Given the description of an element on the screen output the (x, y) to click on. 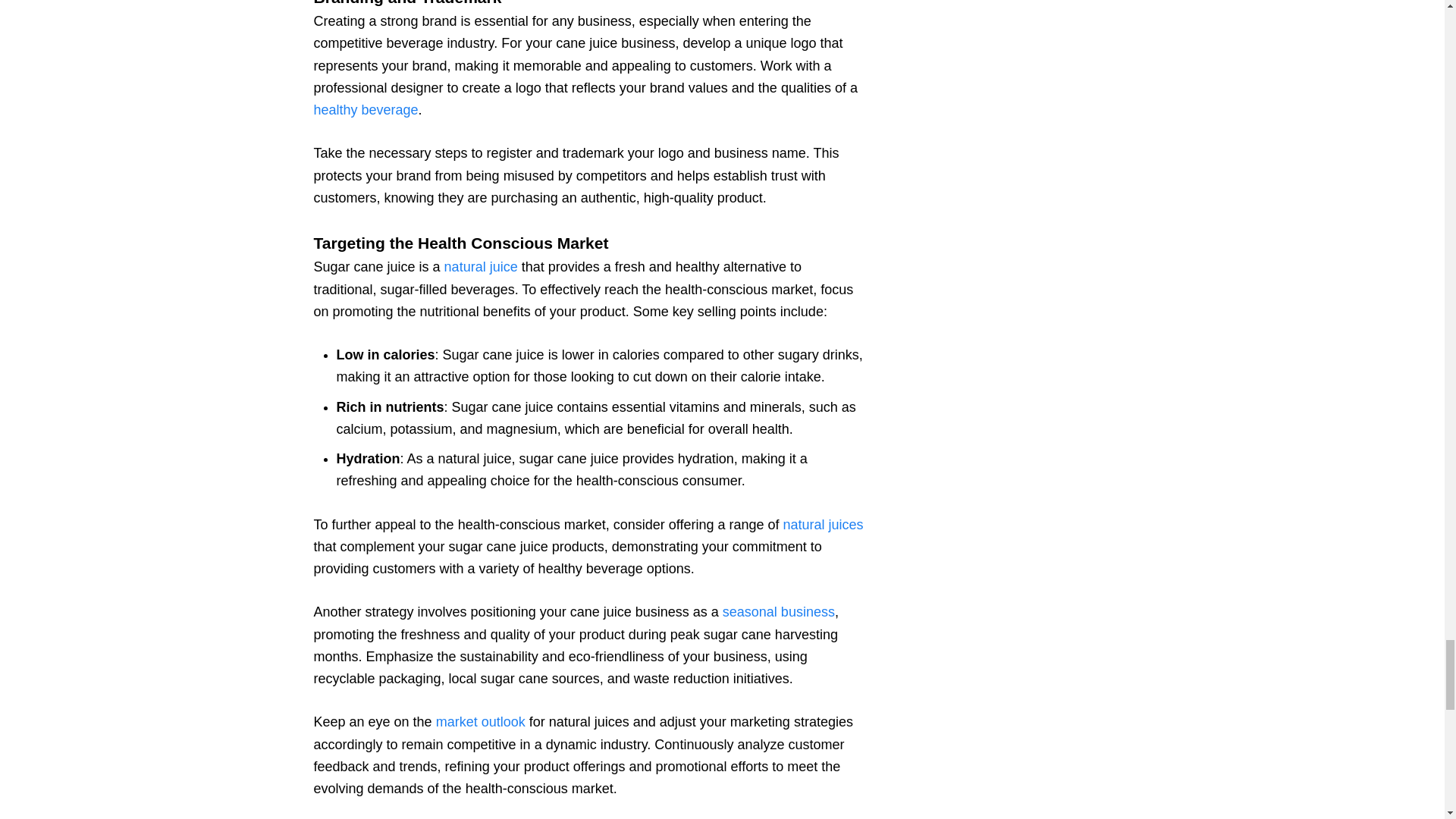
healthy beverage (366, 109)
natural juices (823, 524)
natural juice (481, 266)
market outlook (480, 721)
seasonal business (778, 611)
